Given the description of an element on the screen output the (x, y) to click on. 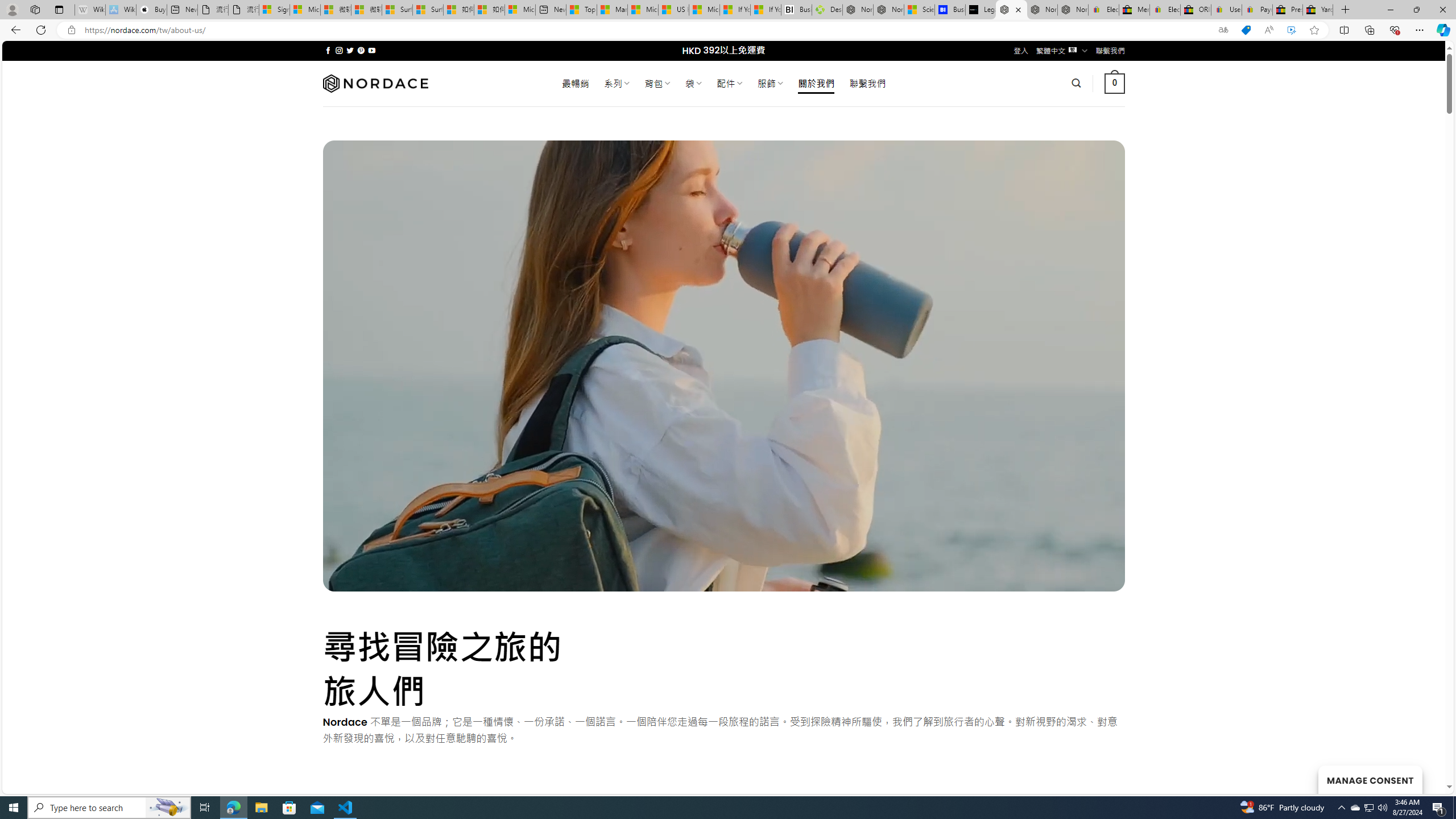
Sign in to your Microsoft account (274, 9)
Descarga Driver Updater (826, 9)
 0  (1115, 83)
Follow on Facebook (327, 50)
